Given the description of an element on the screen output the (x, y) to click on. 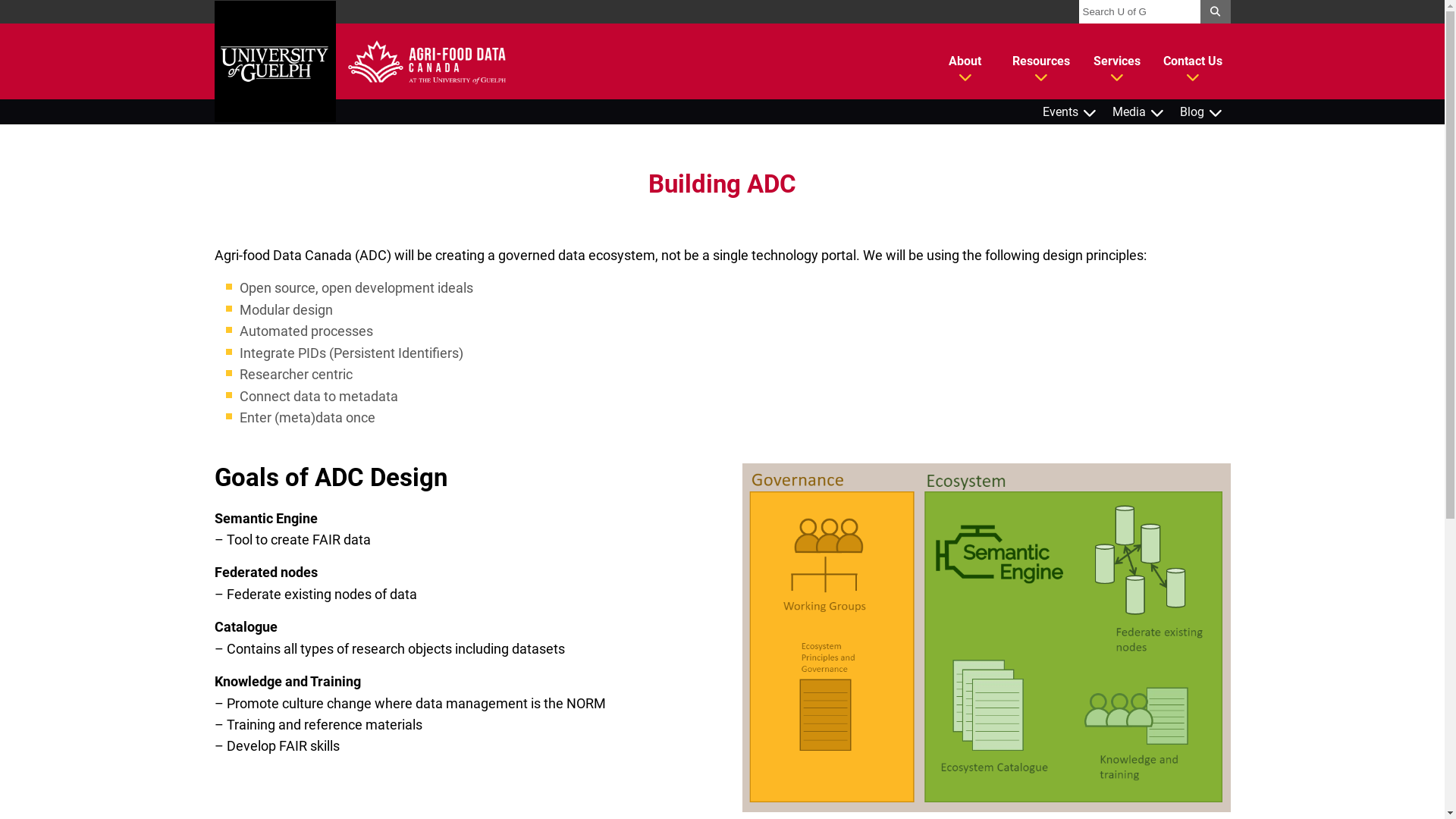
Media Element type: text (1137, 111)
Blog Element type: text (1201, 111)
Events Element type: text (1069, 111)
Services Element type: text (1116, 60)
image-4 Element type: hover (986, 636)
About Element type: text (964, 60)
Contact Us Element type: text (1192, 60)
Resources Element type: text (1040, 60)
